Given the description of an element on the screen output the (x, y) to click on. 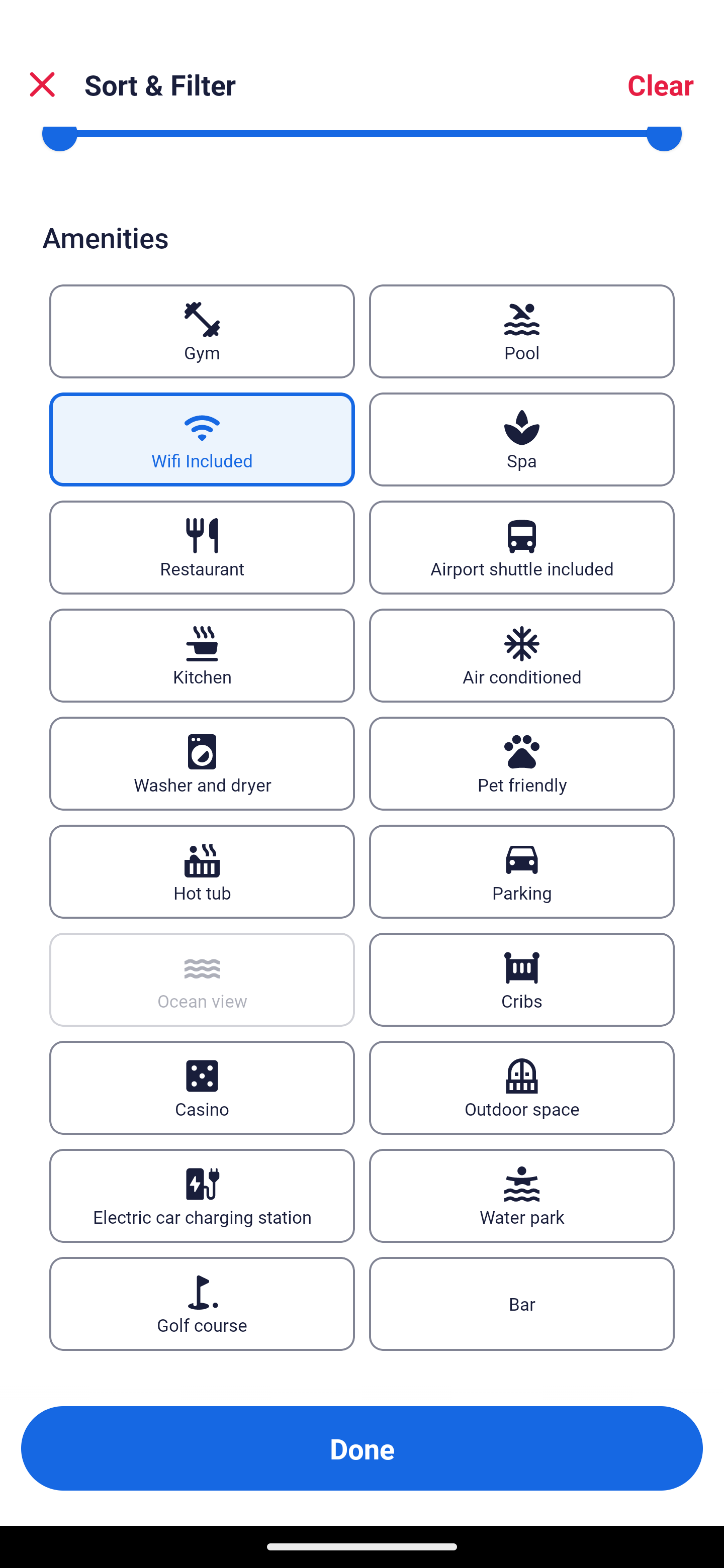
Close Sort and Filter (42, 84)
Clear (660, 84)
Gym (201, 330)
Pool (521, 330)
Wifi Included (201, 439)
Spa (521, 439)
Restaurant (201, 547)
Airport shuttle included (521, 547)
Kitchen (201, 655)
Air conditioned (521, 655)
Washer and dryer (201, 763)
Pet friendly (521, 763)
Hot tub (201, 871)
Parking (521, 871)
Ocean view (201, 979)
Cribs (521, 979)
Casino (201, 1088)
Outdoor space (521, 1088)
Electric car charging station (201, 1196)
Water park (521, 1196)
Golf course (201, 1304)
Bar (521, 1304)
Apply and close Sort and Filter Done (361, 1448)
